Given the description of an element on the screen output the (x, y) to click on. 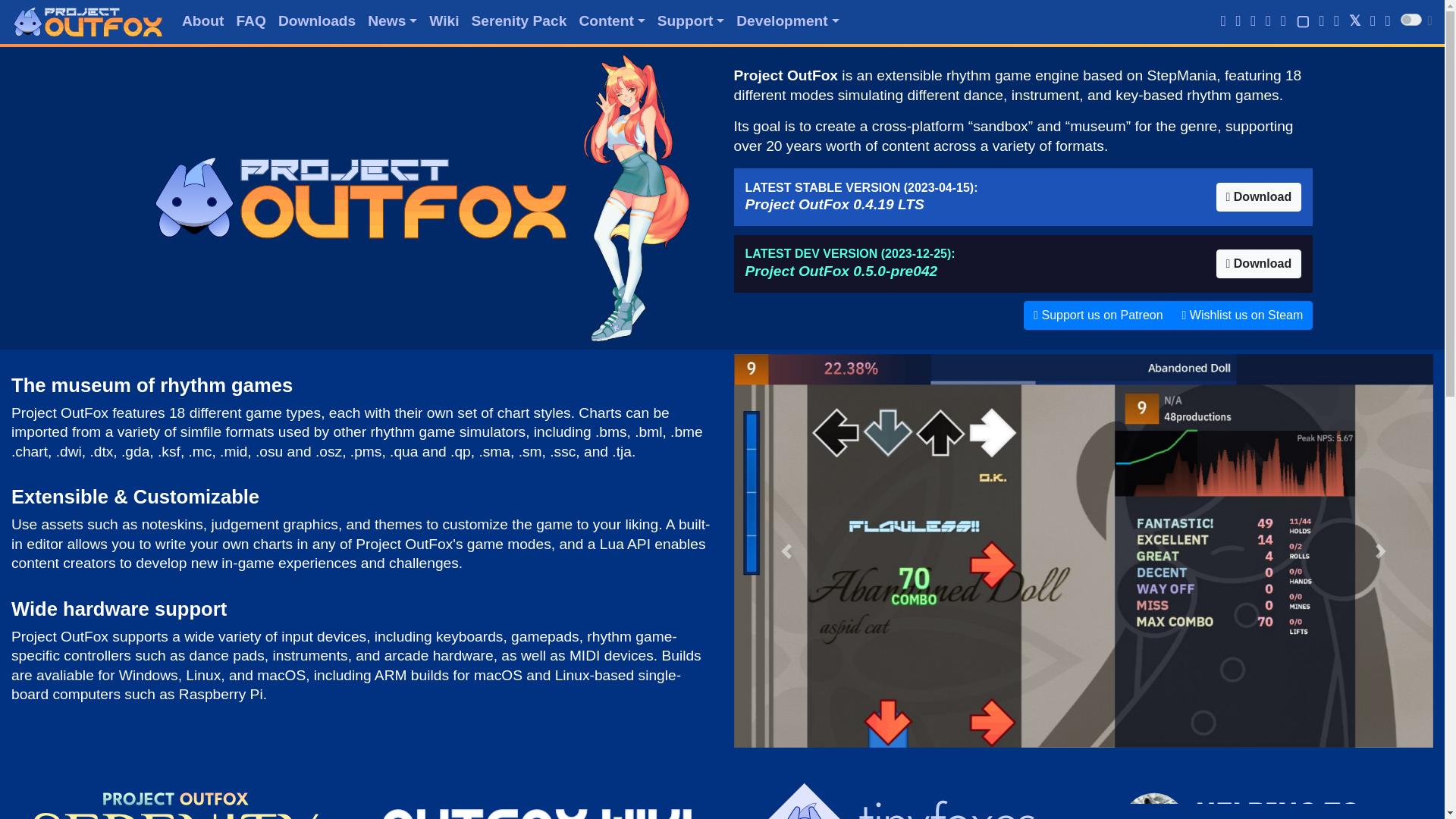
 Support us on Patreon (1097, 315)
News (392, 21)
Project OutFox rhythm engine (87, 22)
Development (787, 21)
 Wishlist us on Steam (1242, 315)
Support (690, 21)
Downloads (316, 21)
Content (611, 21)
Serenity Pack (519, 21)
About (203, 21)
